Given the description of an element on the screen output the (x, y) to click on. 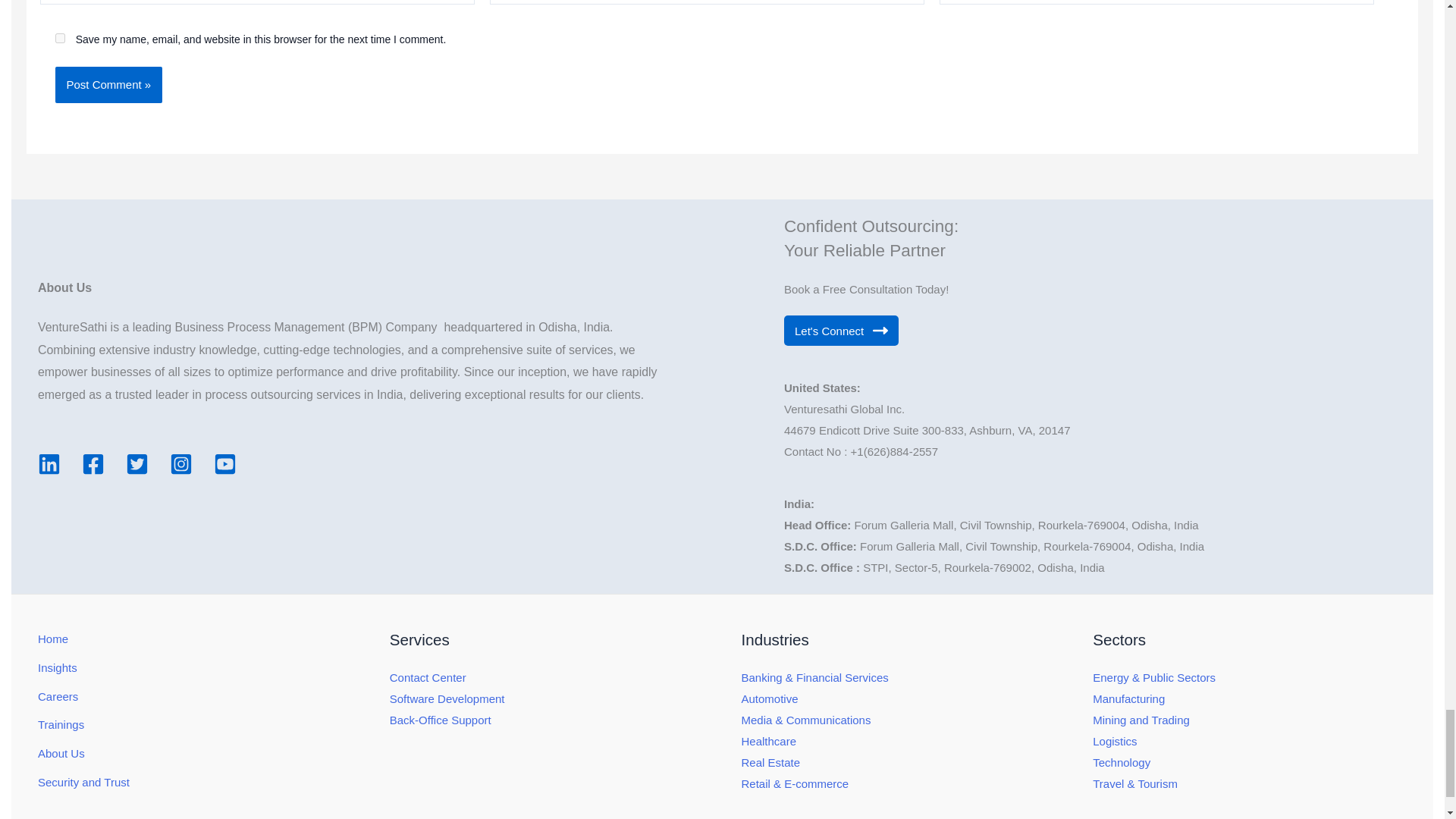
yes (59, 38)
